Given the description of an element on the screen output the (x, y) to click on. 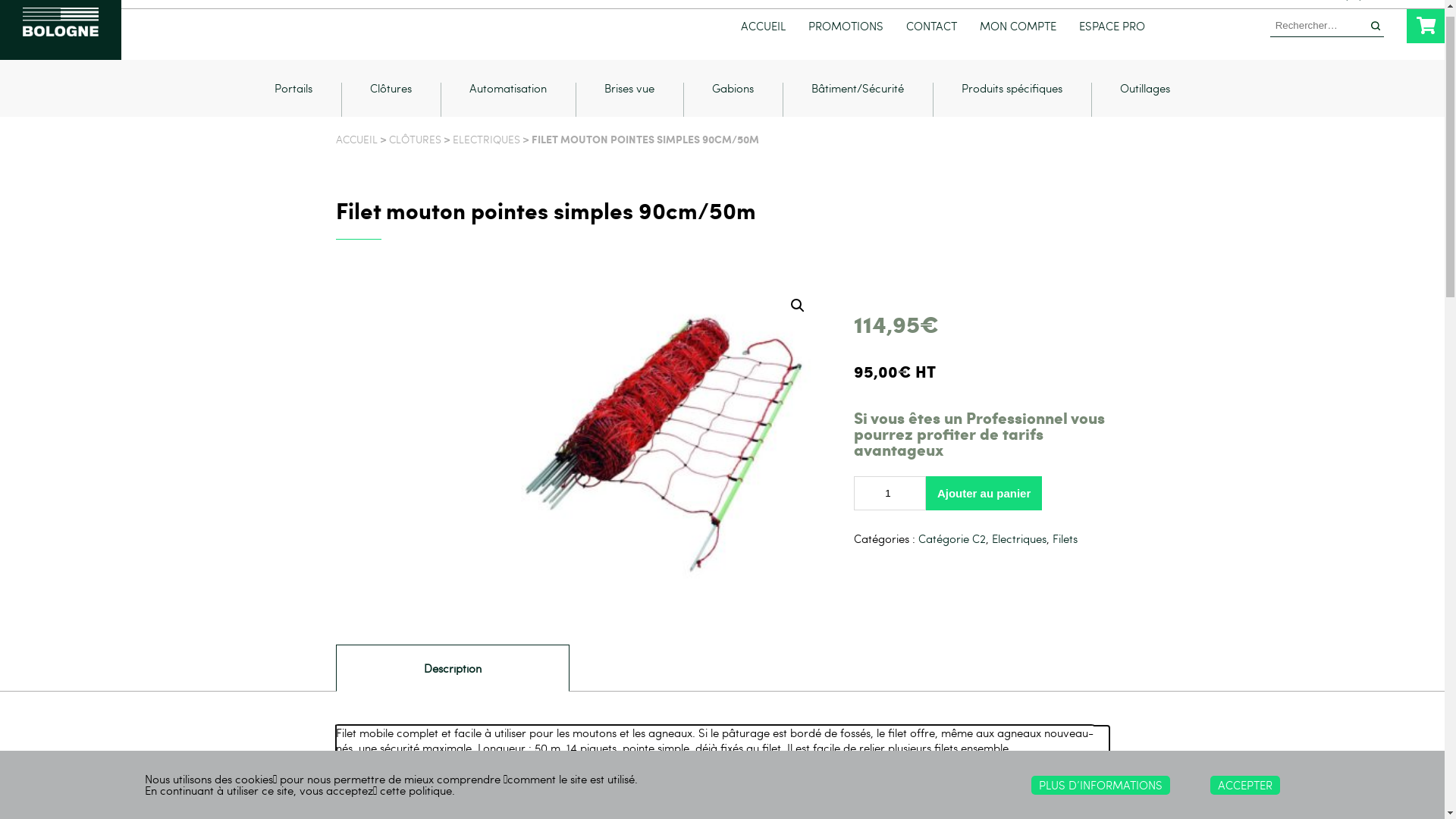
Description Element type: text (452, 683)
Automatisation Element type: text (508, 115)
ACCUEIL Element type: text (355, 154)
Filets Element type: text (1064, 553)
Horaires Element type: text (1404, 11)
Electriques Element type: text (1018, 553)
ESPACE PRO Element type: text (1111, 41)
MON COMPTE Element type: text (1017, 41)
Outillages Element type: text (1145, 115)
PROMOTIONS Element type: text (845, 41)
CONTACT Element type: text (931, 41)
ACCUEIL Element type: text (763, 41)
Rechercher Element type: text (1375, 41)
Brises vue Element type: text (630, 115)
Portails Element type: text (293, 115)
Ajouter au panier Element type: text (983, 509)
filet mouton Element type: hover (663, 455)
ELECTRIQUES Element type: text (485, 154)
Gabions Element type: text (733, 115)
